Given the description of an element on the screen output the (x, y) to click on. 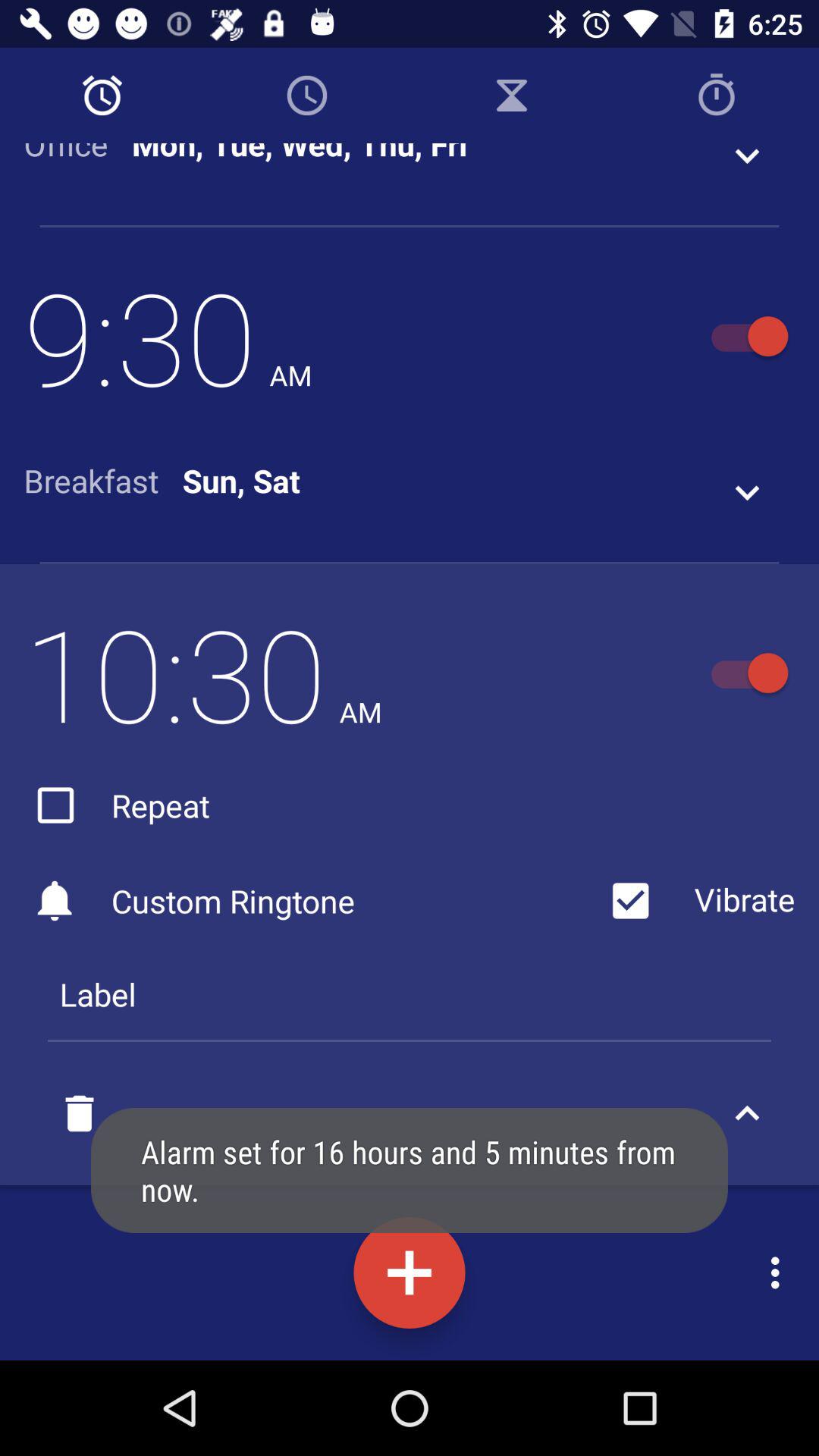
flip until the mon tue wed (299, 154)
